Given the description of an element on the screen output the (x, y) to click on. 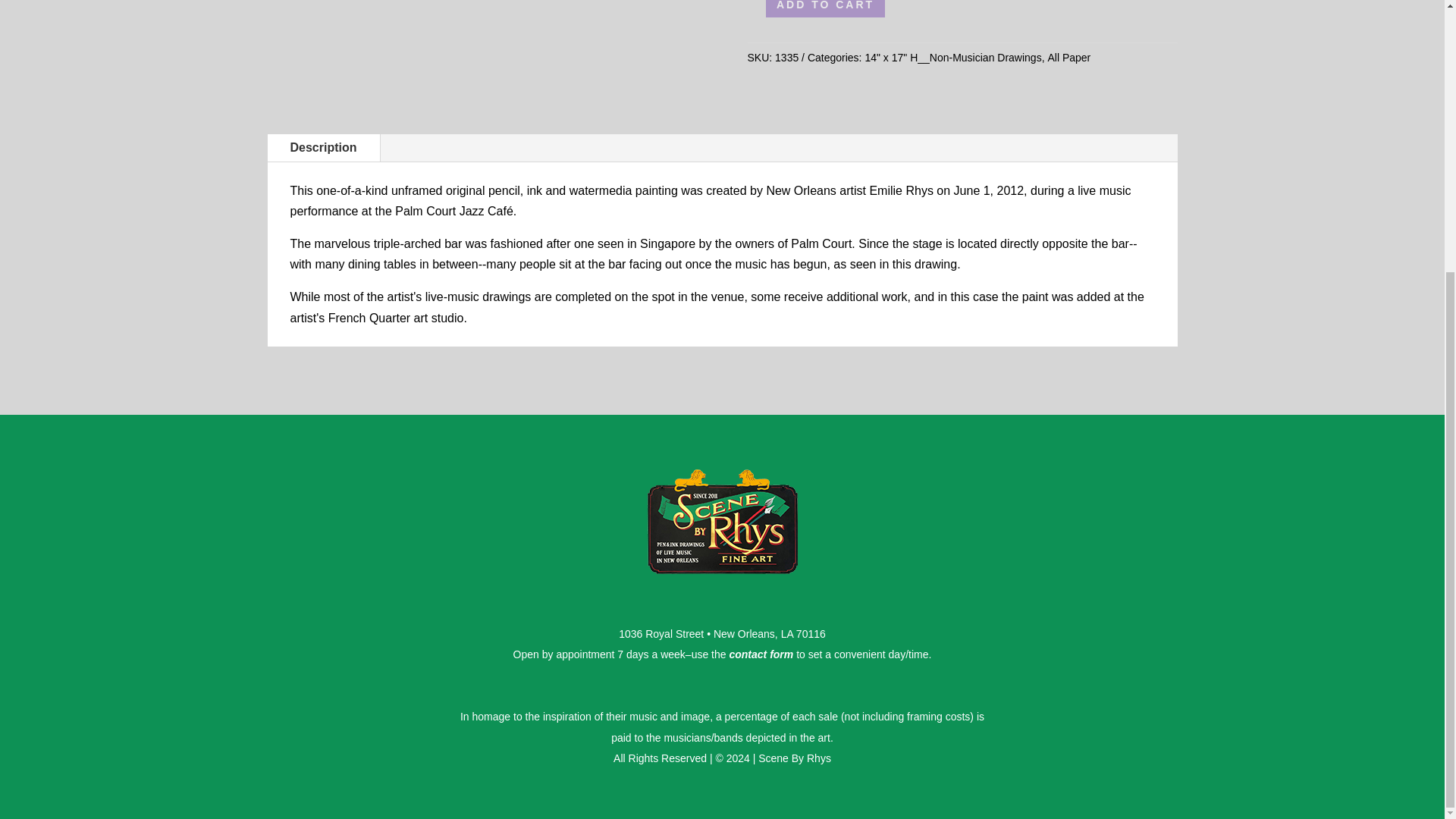
All Paper (1068, 57)
ADD TO CART (825, 8)
contact form (761, 654)
Description (322, 147)
